Given the description of an element on the screen output the (x, y) to click on. 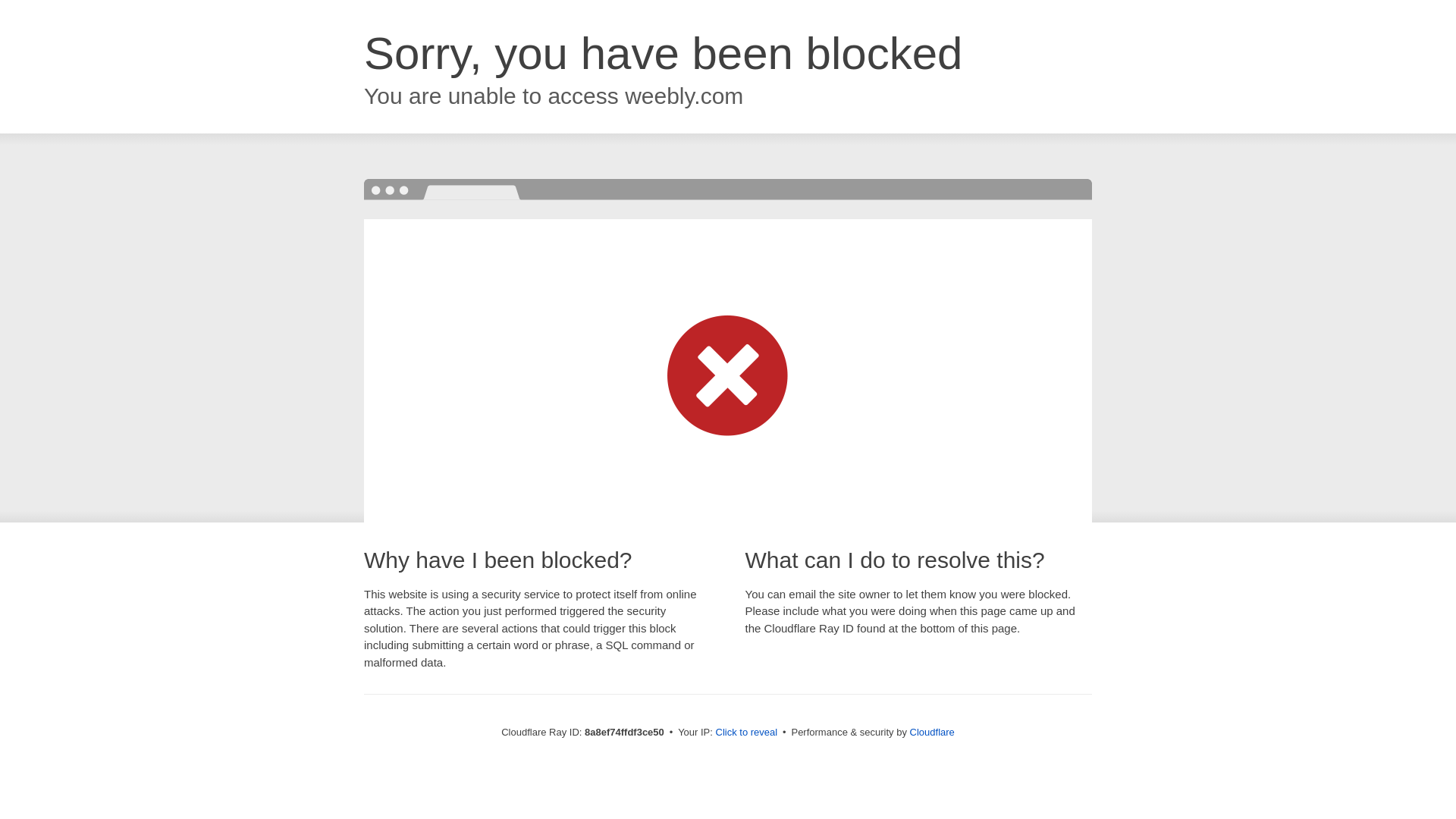
Cloudflare (932, 731)
Click to reveal (746, 732)
